Given the description of an element on the screen output the (x, y) to click on. 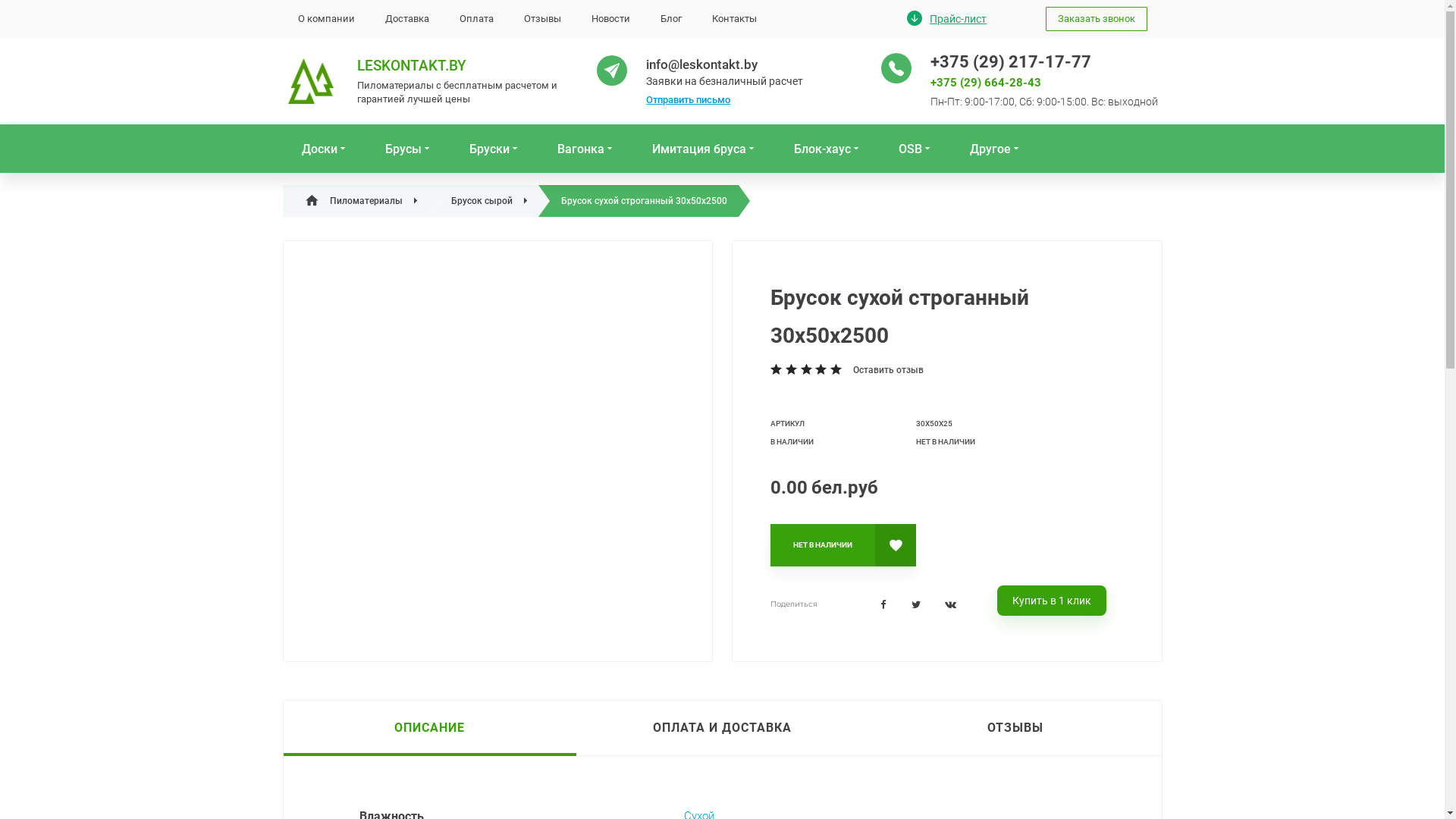
OSB Element type: text (915, 148)
